Given the description of an element on the screen output the (x, y) to click on. 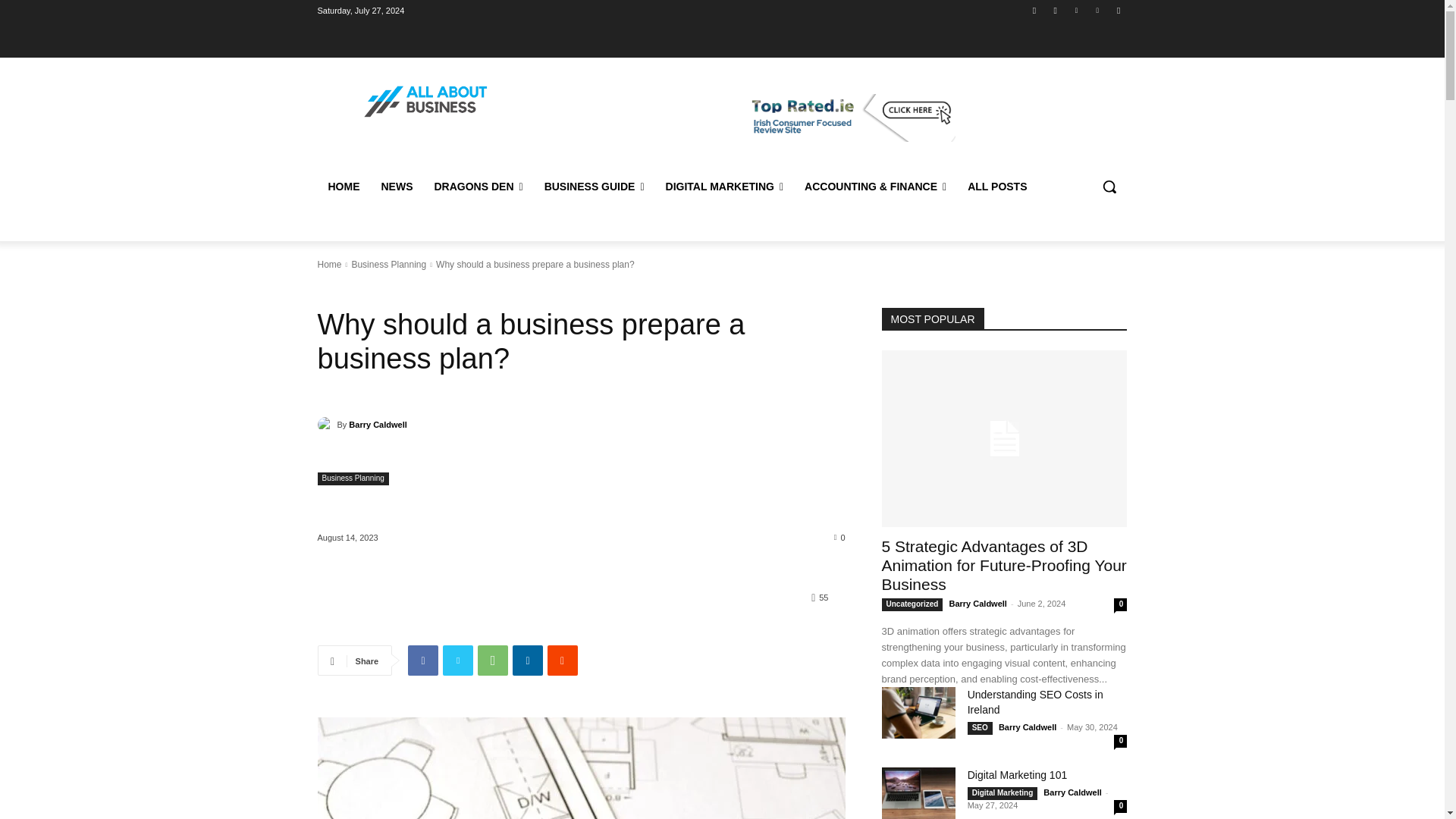
All About Business In Ireland (426, 101)
Facebook (1034, 9)
Instagram (1055, 9)
HOME (343, 186)
Twitter (1075, 9)
Vimeo (1097, 9)
Youtube (1117, 9)
